Given the description of an element on the screen output the (x, y) to click on. 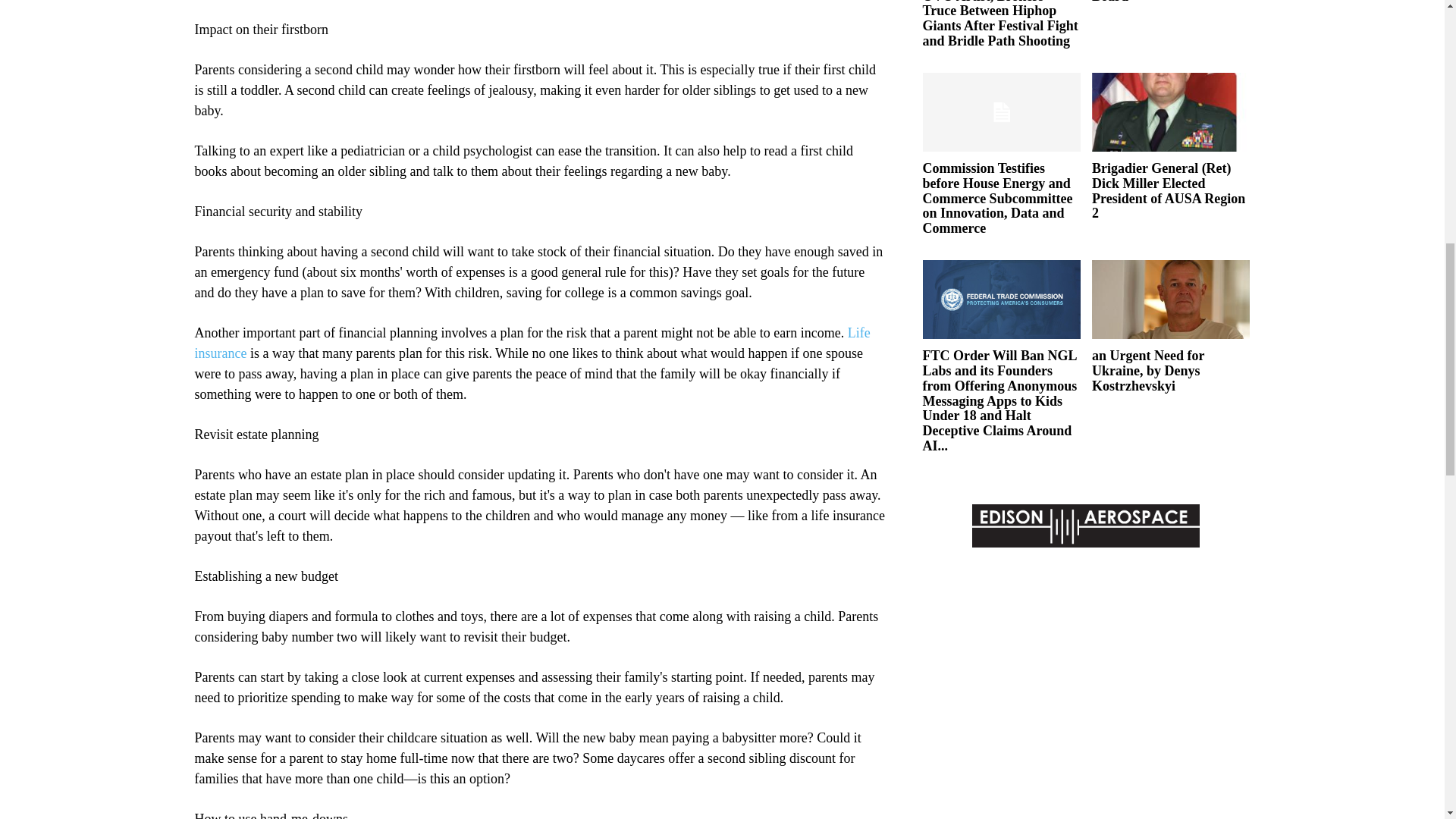
Kevin Donovan Named to Chief Architect Forum Board (1167, 2)
Life insurance (531, 343)
Kevin Donovan Named to Chief Architect Forum Board (1167, 2)
